Given the description of an element on the screen output the (x, y) to click on. 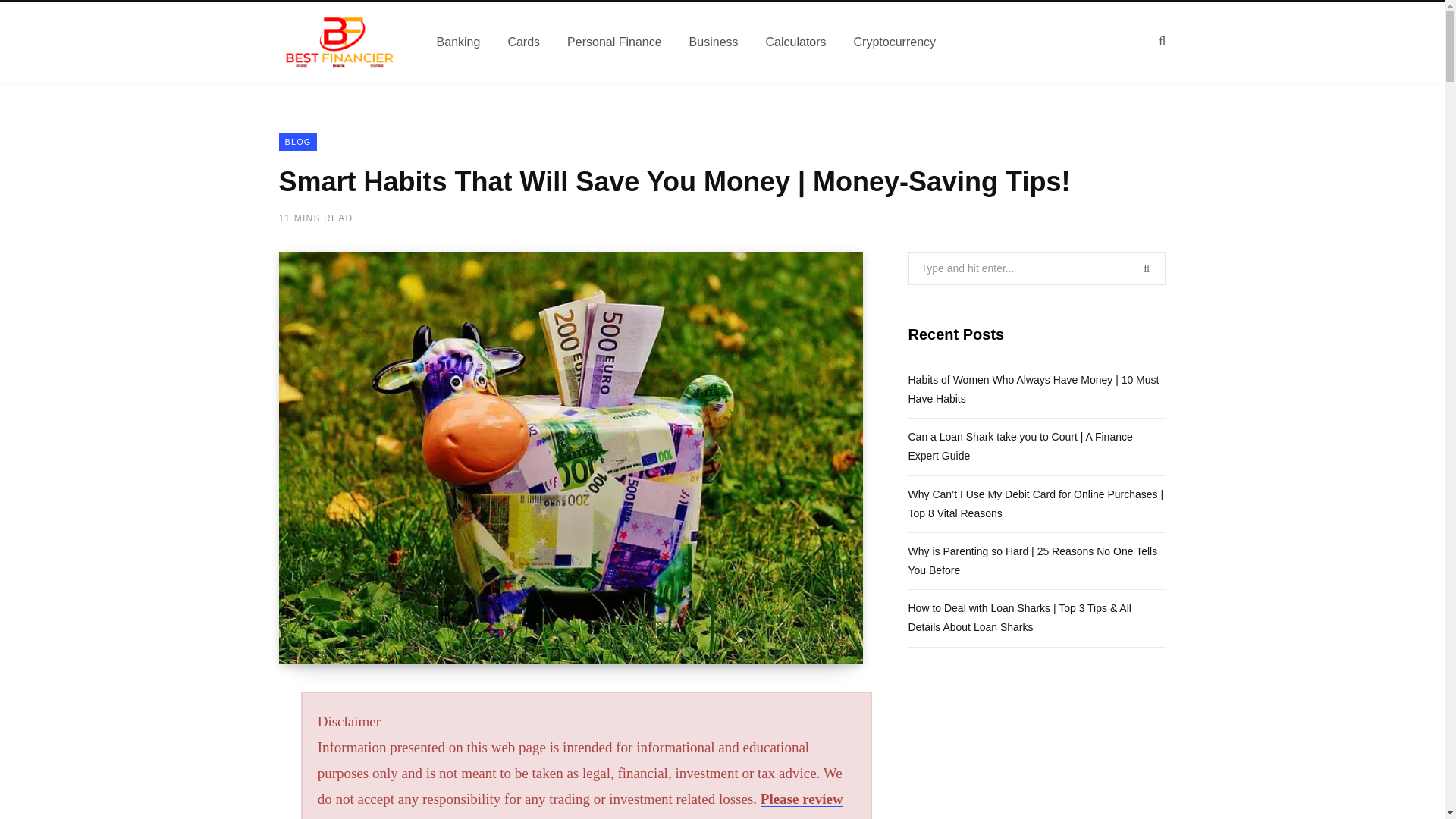
Calculators (796, 41)
Banking (459, 41)
Please review our disclaimer (580, 805)
Business (713, 41)
Personal Finance (614, 41)
Search for: (1037, 268)
BLOG (298, 141)
Cryptocurrency (894, 41)
Cards (523, 41)
Best Financier (339, 42)
